Given the description of an element on the screen output the (x, y) to click on. 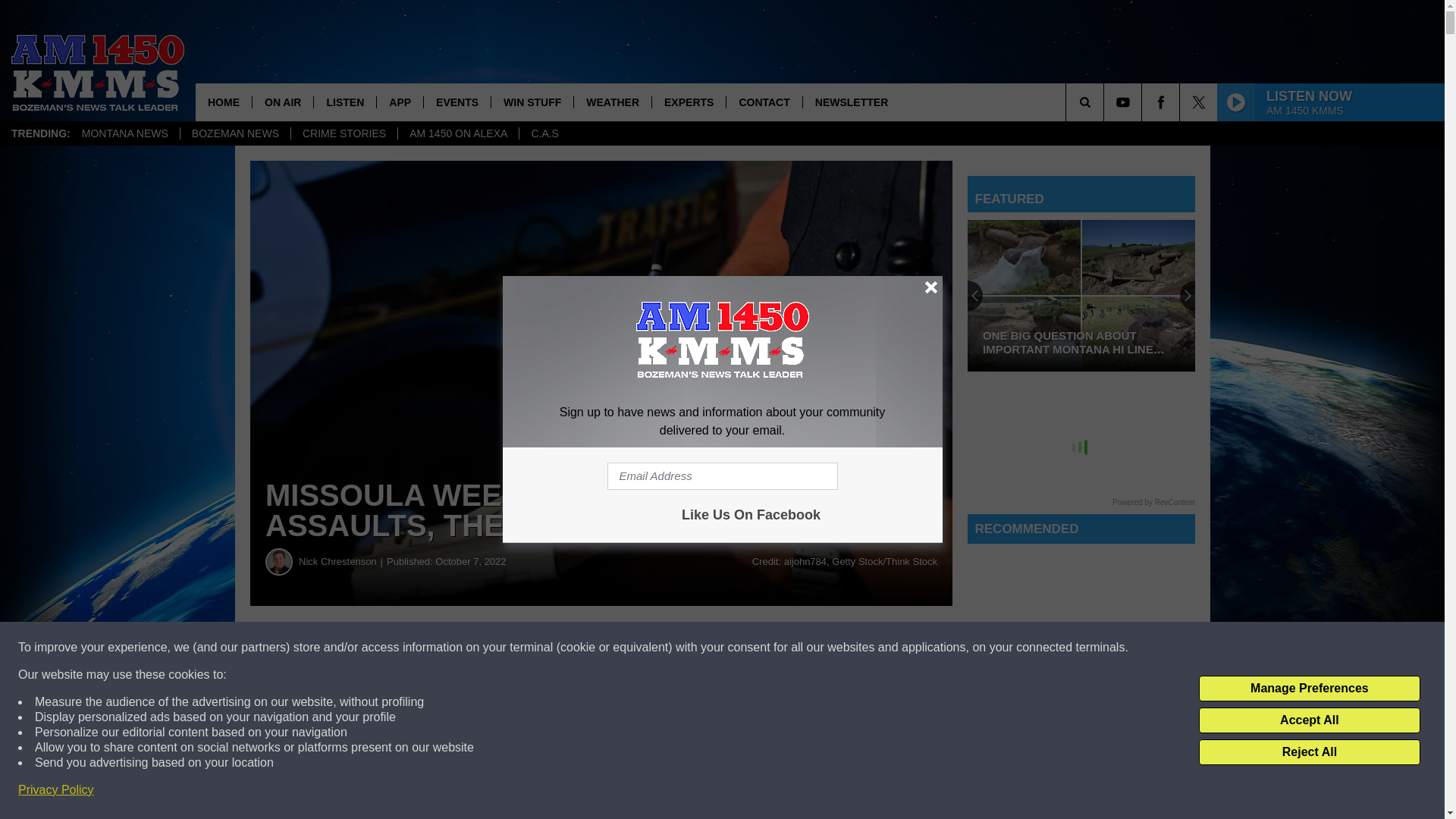
Privacy Policy (55, 789)
APP (399, 102)
C.A.S (544, 133)
LISTEN (344, 102)
Share on Facebook (460, 647)
Accept All (1309, 720)
MONTANA NEWS (124, 133)
ON AIR (282, 102)
SEARCH (1106, 102)
Reject All (1309, 751)
HOME (223, 102)
BOZEMAN NEWS (234, 133)
Email Address (722, 475)
Manage Preferences (1309, 688)
SEARCH (1106, 102)
